Given the description of an element on the screen output the (x, y) to click on. 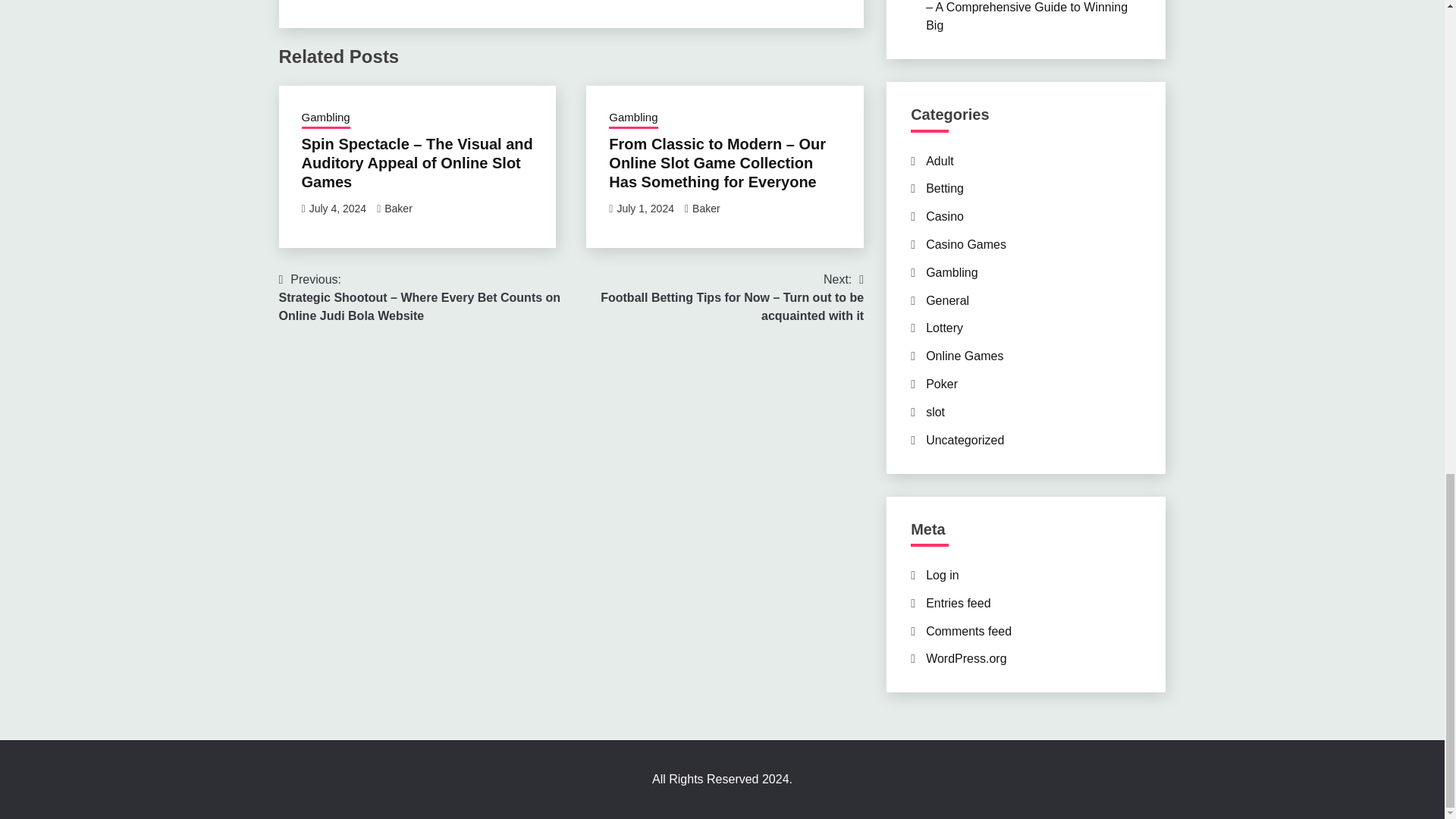
July 4, 2024 (337, 208)
Adult (939, 160)
July 1, 2024 (644, 208)
Casino (944, 215)
Baker (398, 208)
Gambling (325, 118)
Gambling (633, 118)
Gambling (951, 272)
Casino Games (966, 244)
Betting (944, 187)
Baker (706, 208)
